Given the description of an element on the screen output the (x, y) to click on. 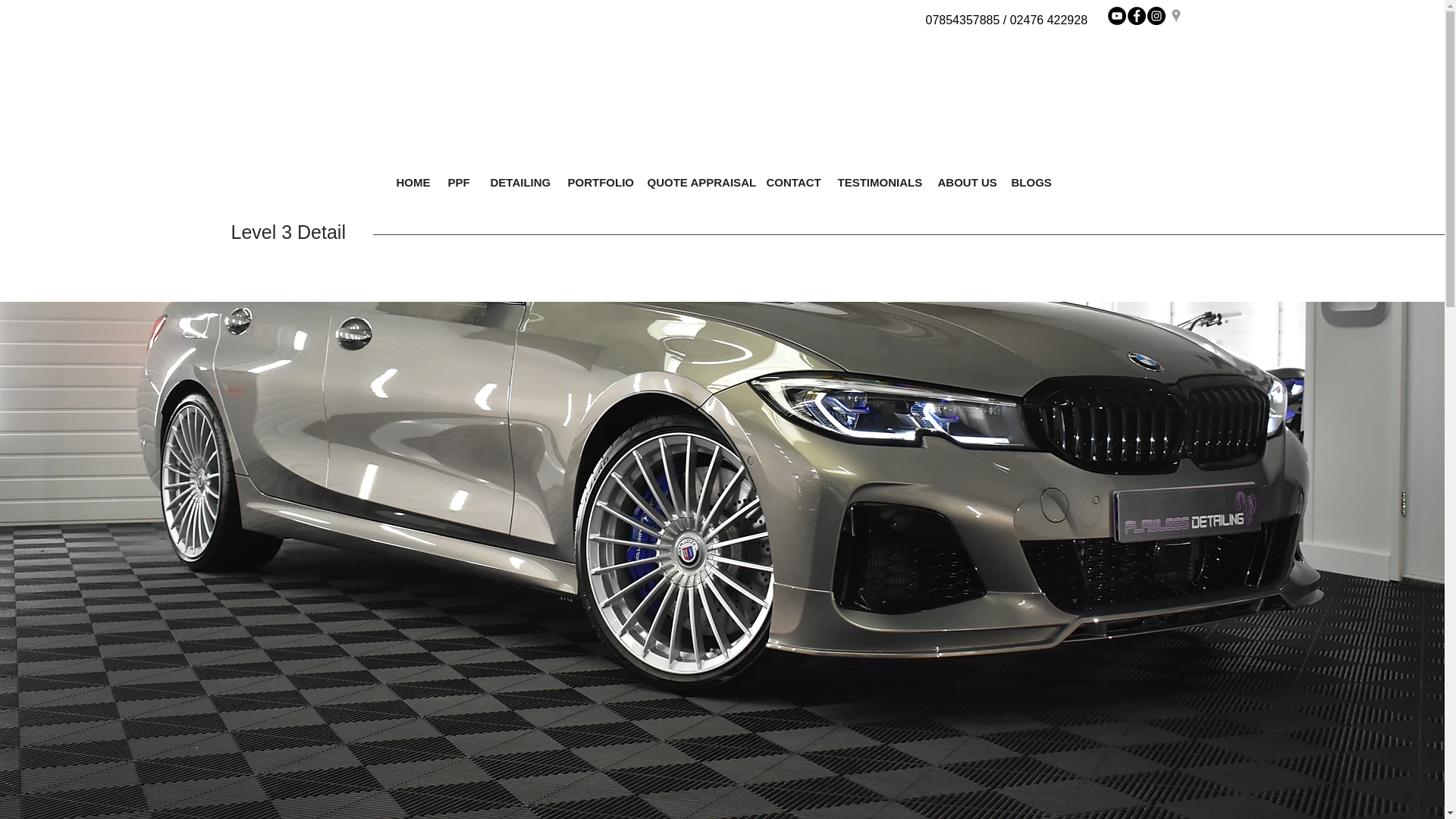
HOME (410, 182)
PORTFOLIO (596, 182)
TESTIMONIALS (876, 182)
BLOGS (1027, 182)
ABOUT US (963, 182)
CONTACT (791, 182)
QUOTE APPRAISAL (694, 182)
